Given the description of an element on the screen output the (x, y) to click on. 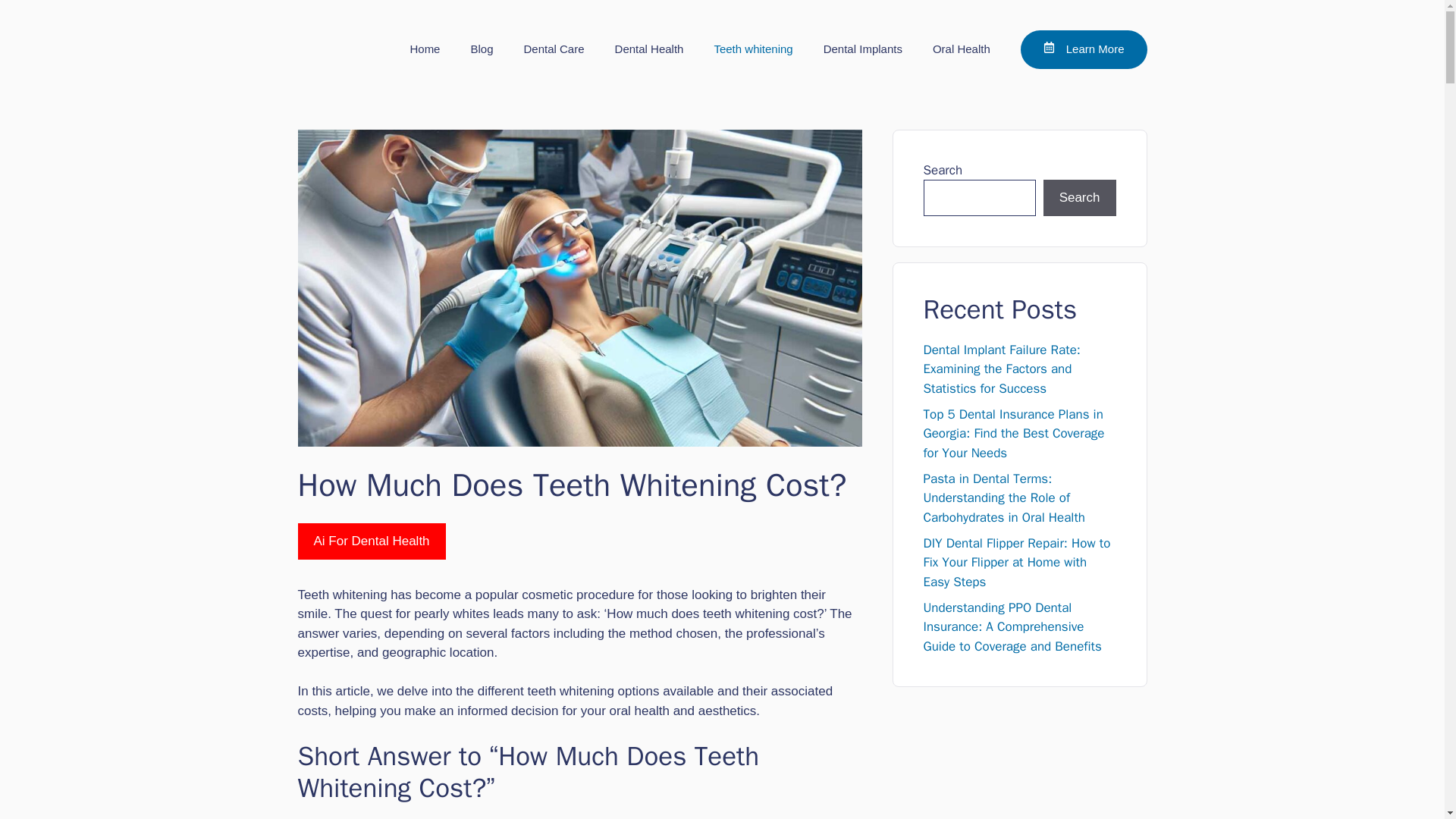
Dental Health (648, 49)
Oral Health (961, 49)
Dental Care (553, 49)
Dental Implants (862, 49)
Search (1079, 197)
Ai For Dental Health (371, 541)
